Given the description of an element on the screen output the (x, y) to click on. 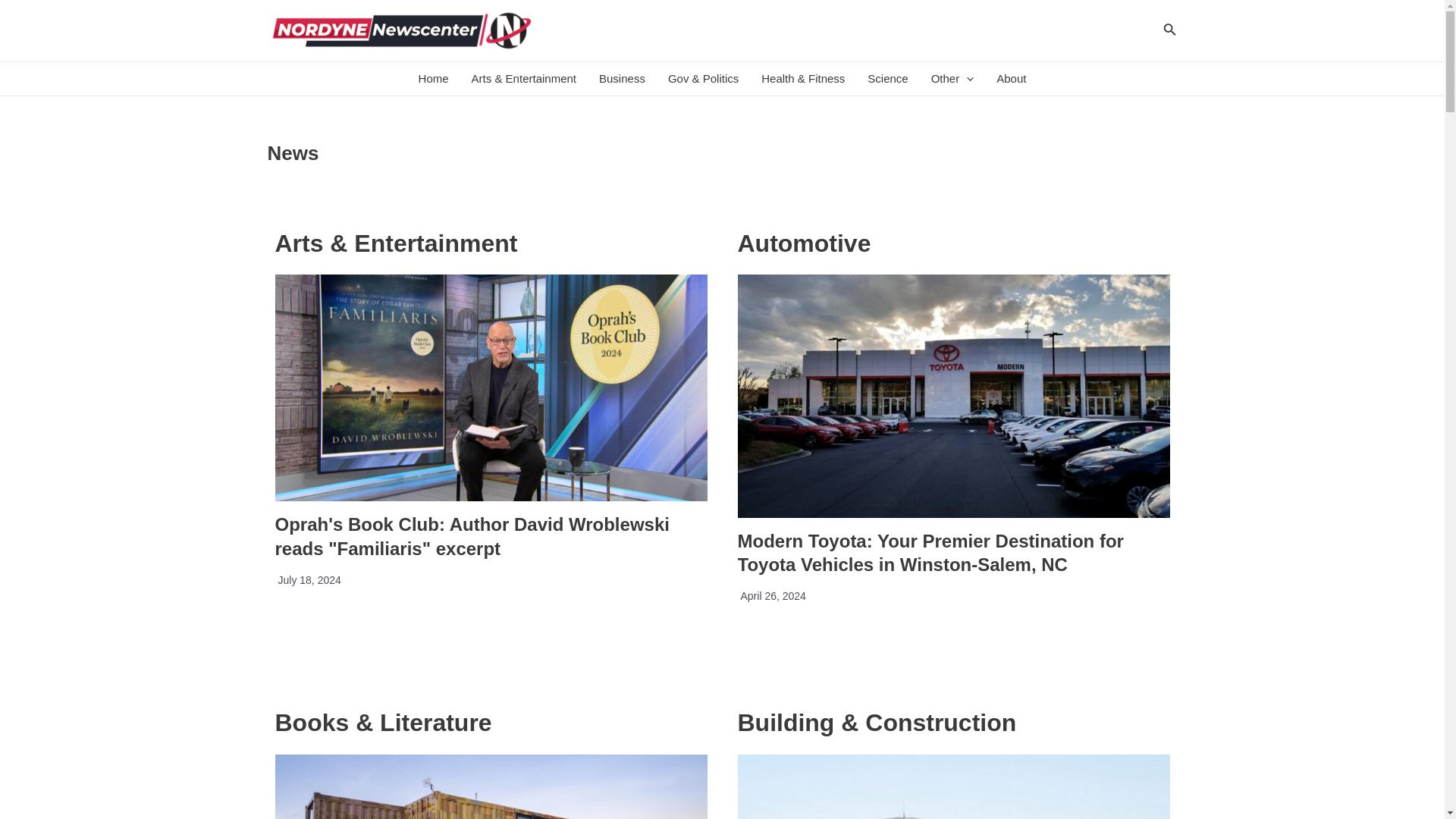
Home (433, 78)
Science (887, 78)
Business (622, 78)
About (1010, 78)
Other (952, 78)
